Given the description of an element on the screen output the (x, y) to click on. 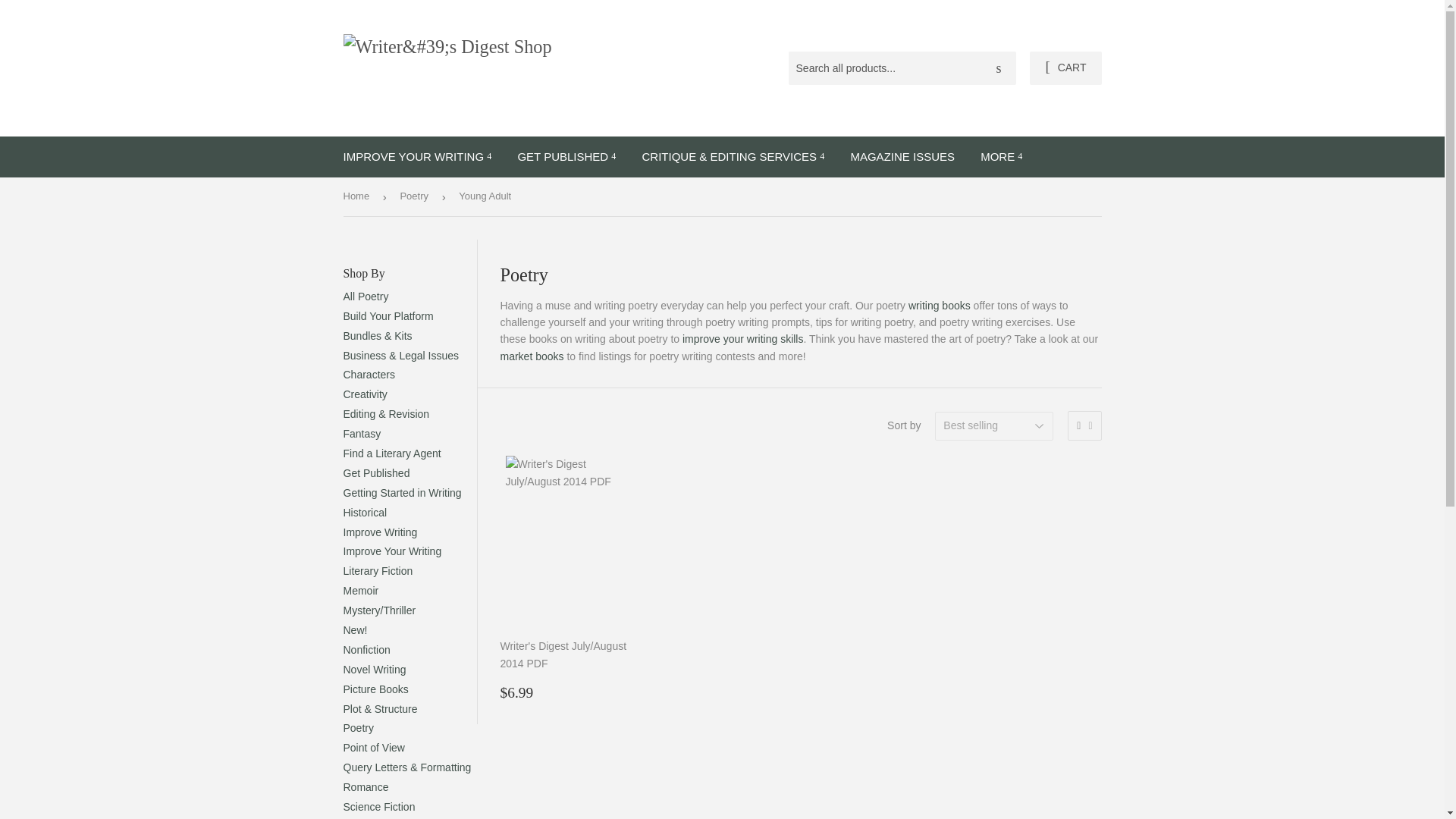
Show products matching tag Historical (364, 512)
Show products matching tag Find a Literary Agent (391, 453)
Show products matching tag New! (354, 630)
CART (1064, 68)
Show products matching tag Literary Fiction (377, 571)
Show products matching tag Fantasy (361, 433)
Show products matching tag Build Your Platform (387, 316)
Show products matching tag Memoir (360, 590)
Show products matching tag Get Published (375, 472)
Show products matching tag Characters (368, 374)
